Given the description of an element on the screen output the (x, y) to click on. 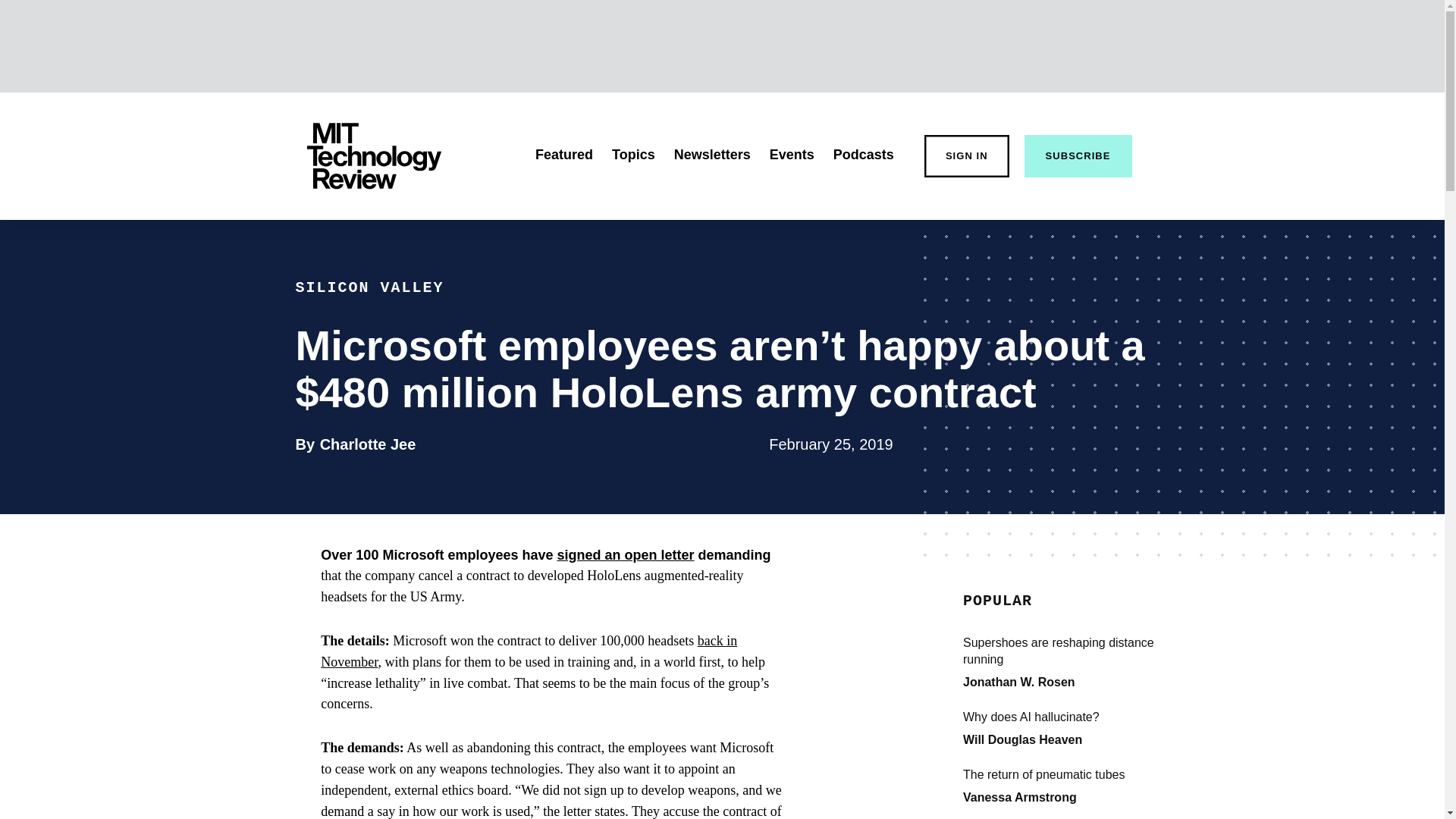
Events (368, 443)
SILICON VALLEY (791, 154)
Podcasts (369, 287)
Vanessa Armstrong (862, 154)
Topics (1019, 797)
Why does AI hallucinate? (633, 154)
back in November (1075, 717)
The return of pneumatic tubes (528, 651)
SUBSCRIBE (1075, 774)
